Given the description of an element on the screen output the (x, y) to click on. 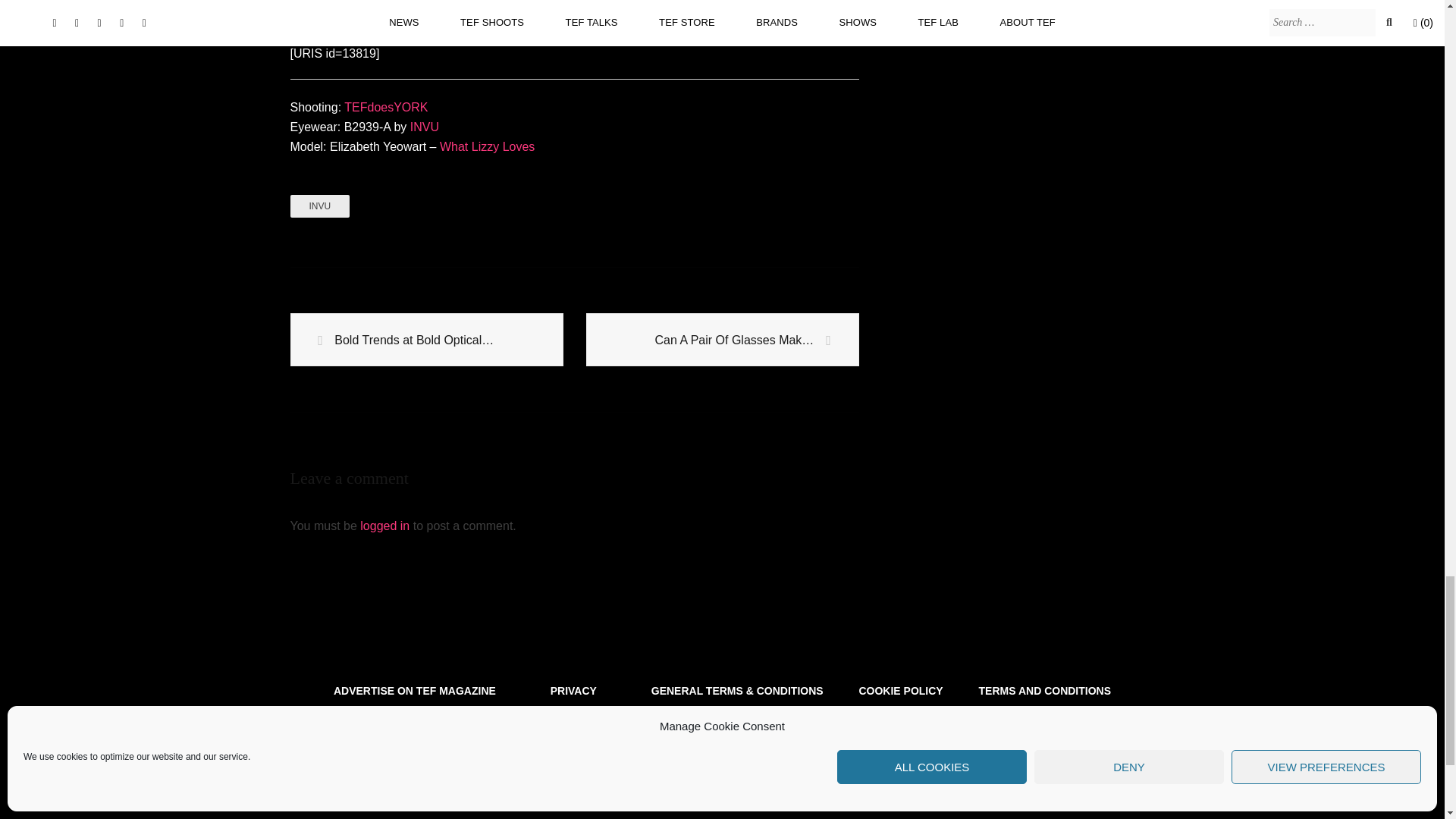
Bold Trends at Bold Optical Fair (426, 339)
